Given the description of an element on the screen output the (x, y) to click on. 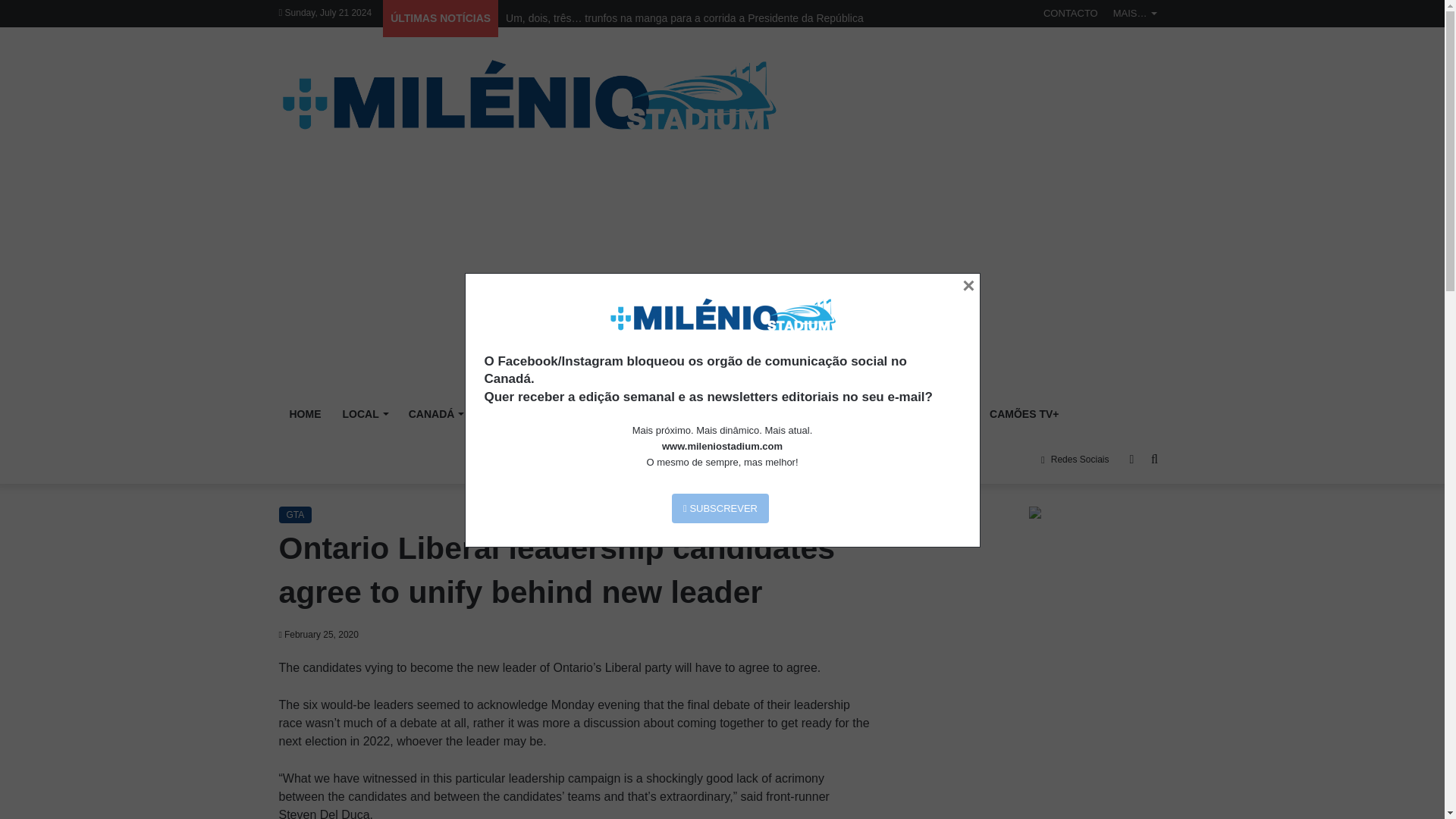
LIFESTYLE (858, 413)
CONTACTO (1070, 13)
MUNDO (690, 413)
DESPORTO (769, 413)
PORTUGAL (513, 413)
AUTONOMIAS (605, 413)
Milenio Stadium (528, 95)
HOME (305, 413)
LOCAL (364, 413)
